Given the description of an element on the screen output the (x, y) to click on. 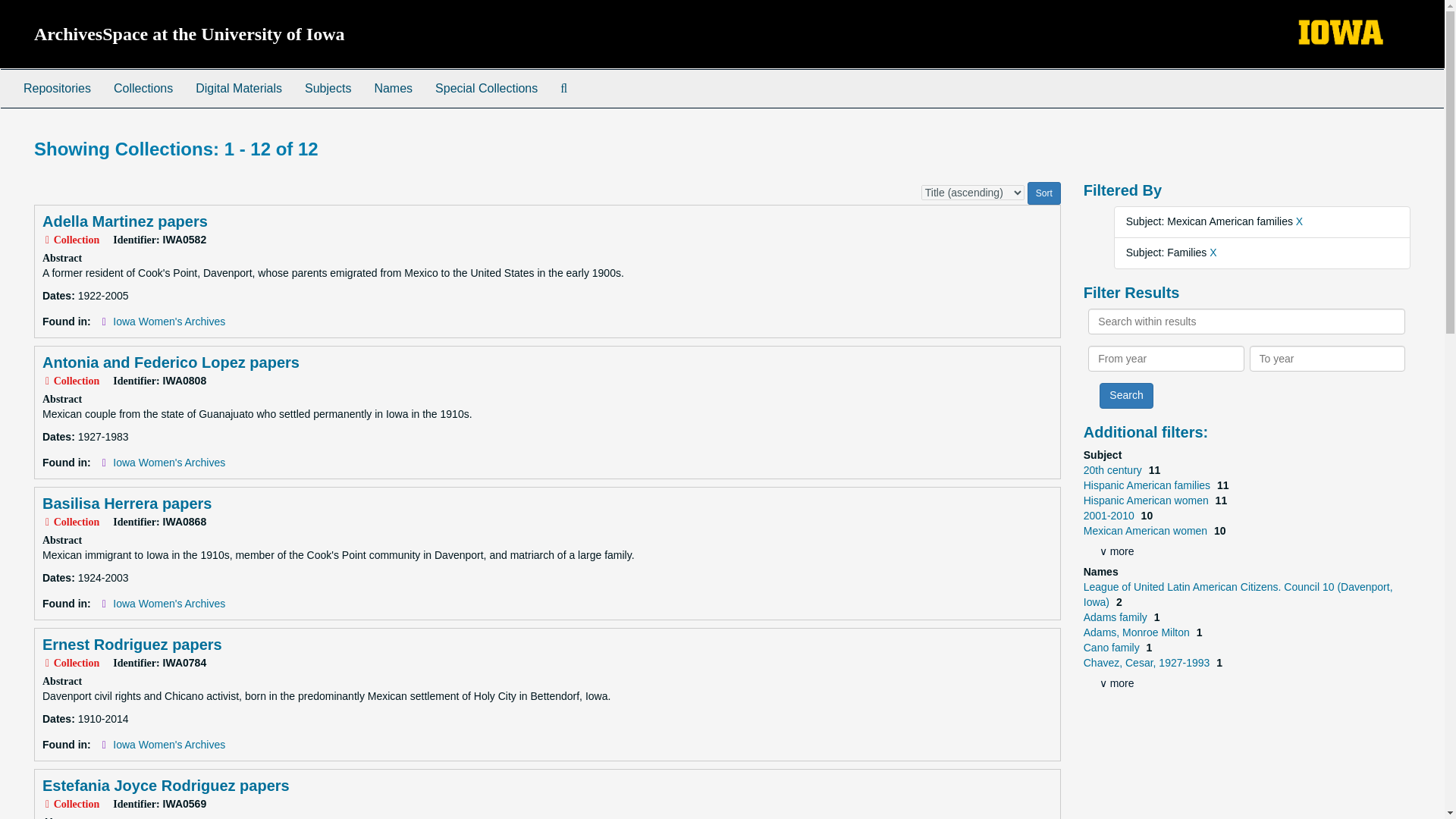
Filter By 'Hispanic American families' (1147, 485)
Remove this filter  (1212, 252)
Estefania Joyce Rodriguez papers (165, 785)
Filter By '2001-2010' (1110, 515)
Iowa Women's Archives (169, 744)
Collections (142, 88)
Filter By 'Hispanic American women' (1147, 500)
Search The Archives (563, 88)
Antonia and Federico Lopez papers (170, 362)
ArchivesSpace at the University of Iowa (189, 34)
Search (1126, 395)
Names (392, 88)
Ernest Rodriguez papers (132, 644)
Filter By '20th century' (1113, 469)
Sort (1044, 192)
